Given the description of an element on the screen output the (x, y) to click on. 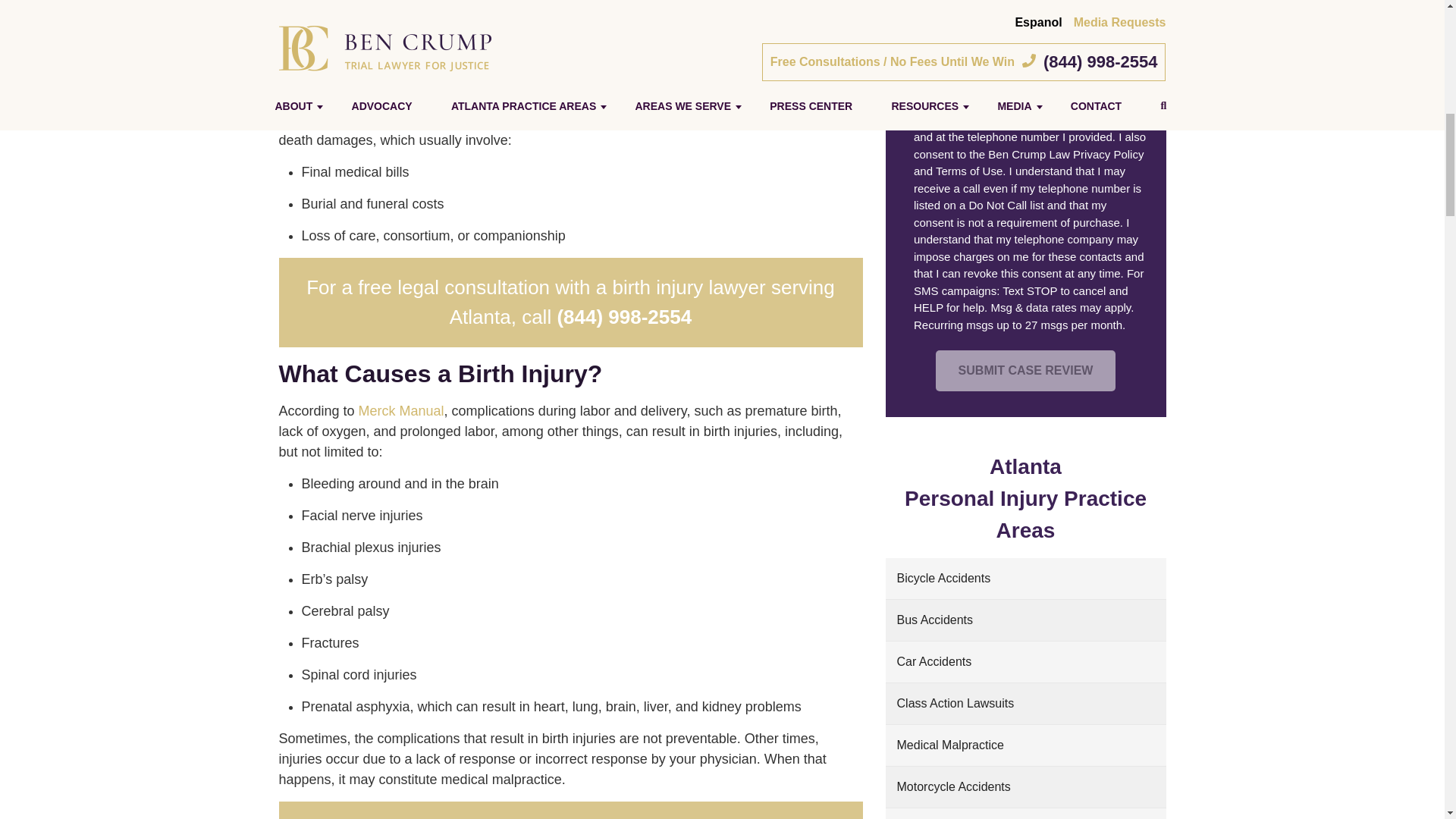
SUBMIT CASE REVIEW (1026, 370)
